Given the description of an element on the screen output the (x, y) to click on. 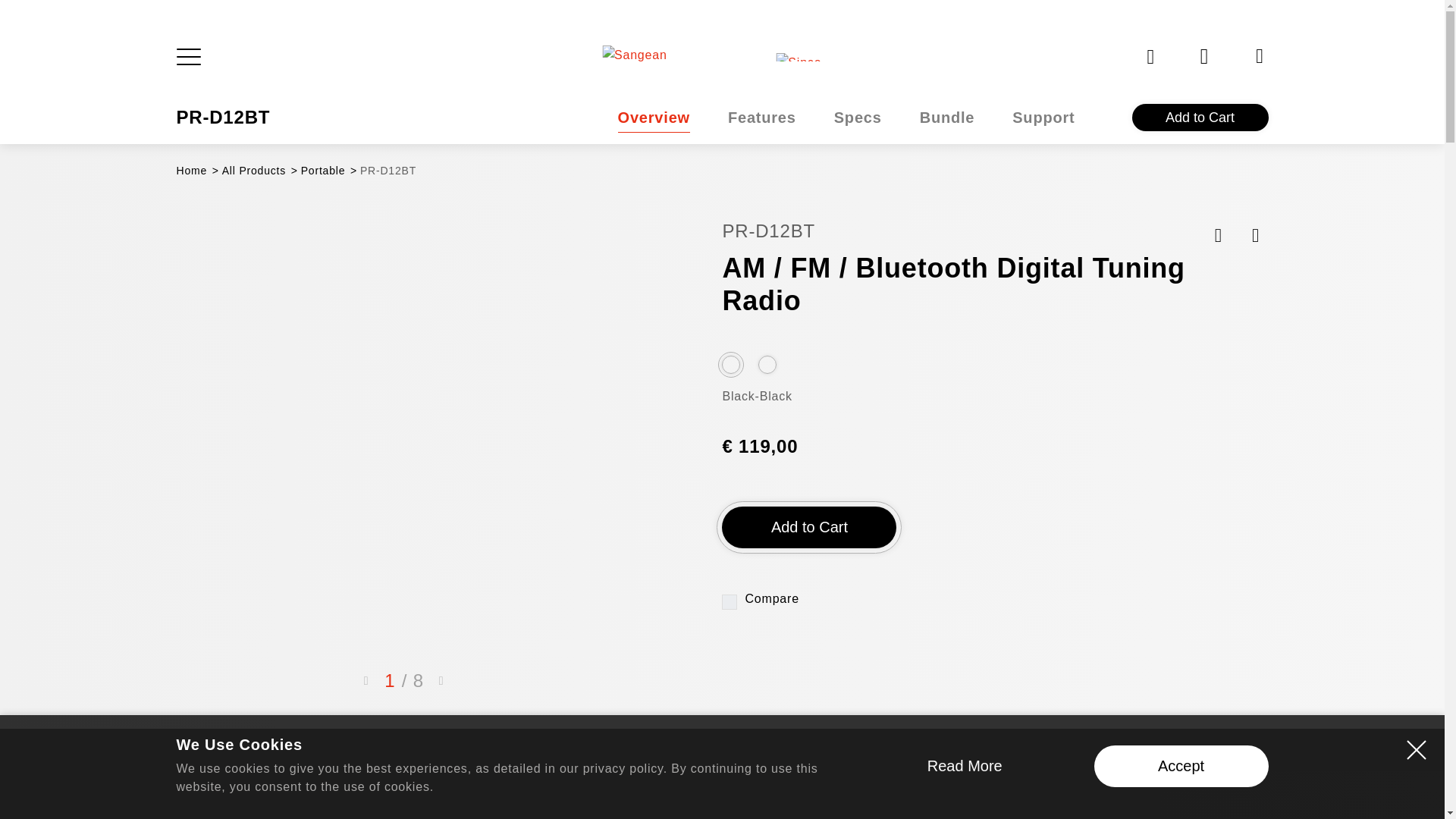
Cart (1205, 56)
Add Wish List (846, 117)
Home (1217, 234)
Overview (722, 56)
Search (653, 117)
